Given the description of an element on the screen output the (x, y) to click on. 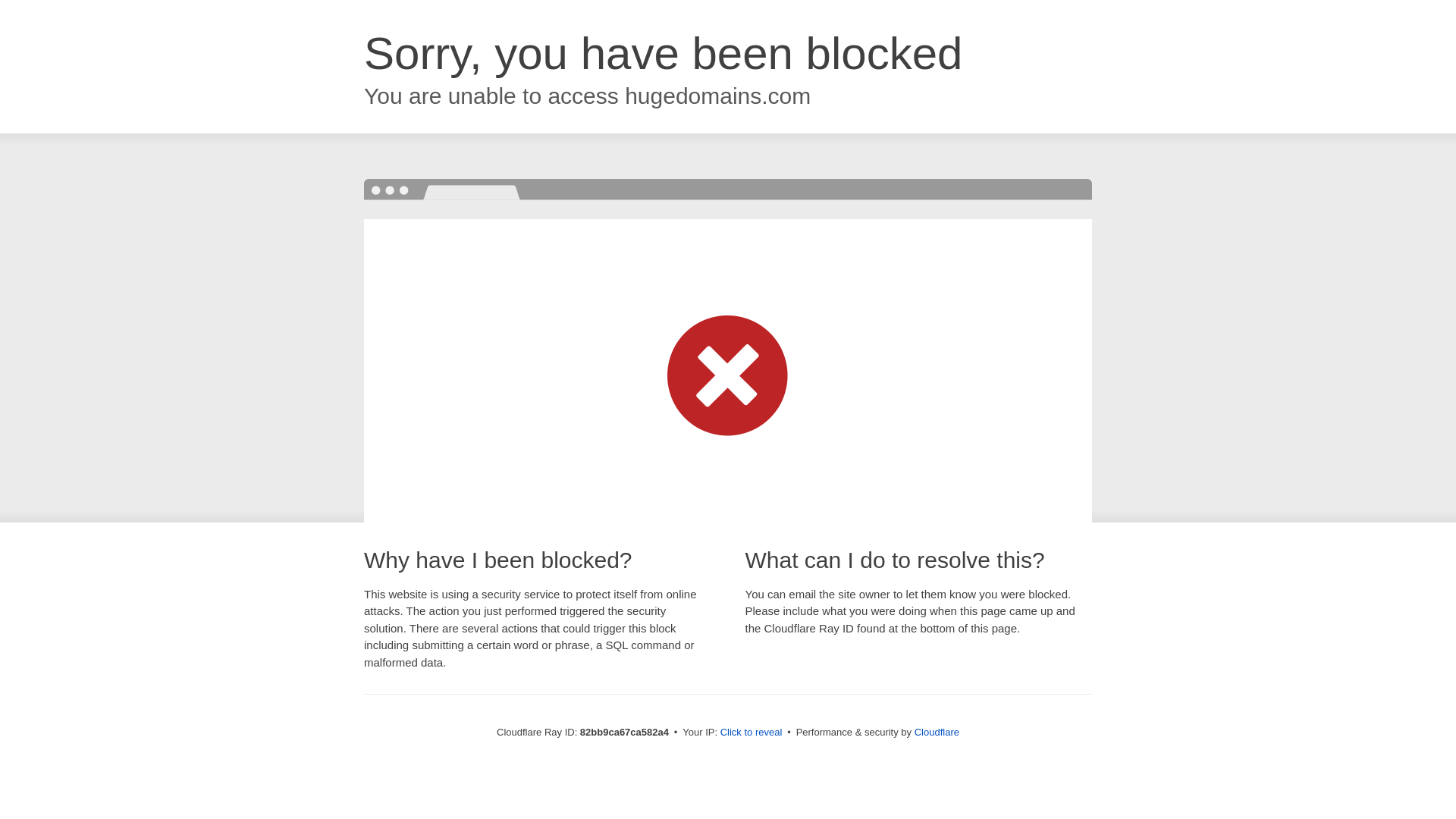
Click to reveal Element type: text (751, 732)
Cloudflare Element type: text (936, 731)
